Given the description of an element on the screen output the (x, y) to click on. 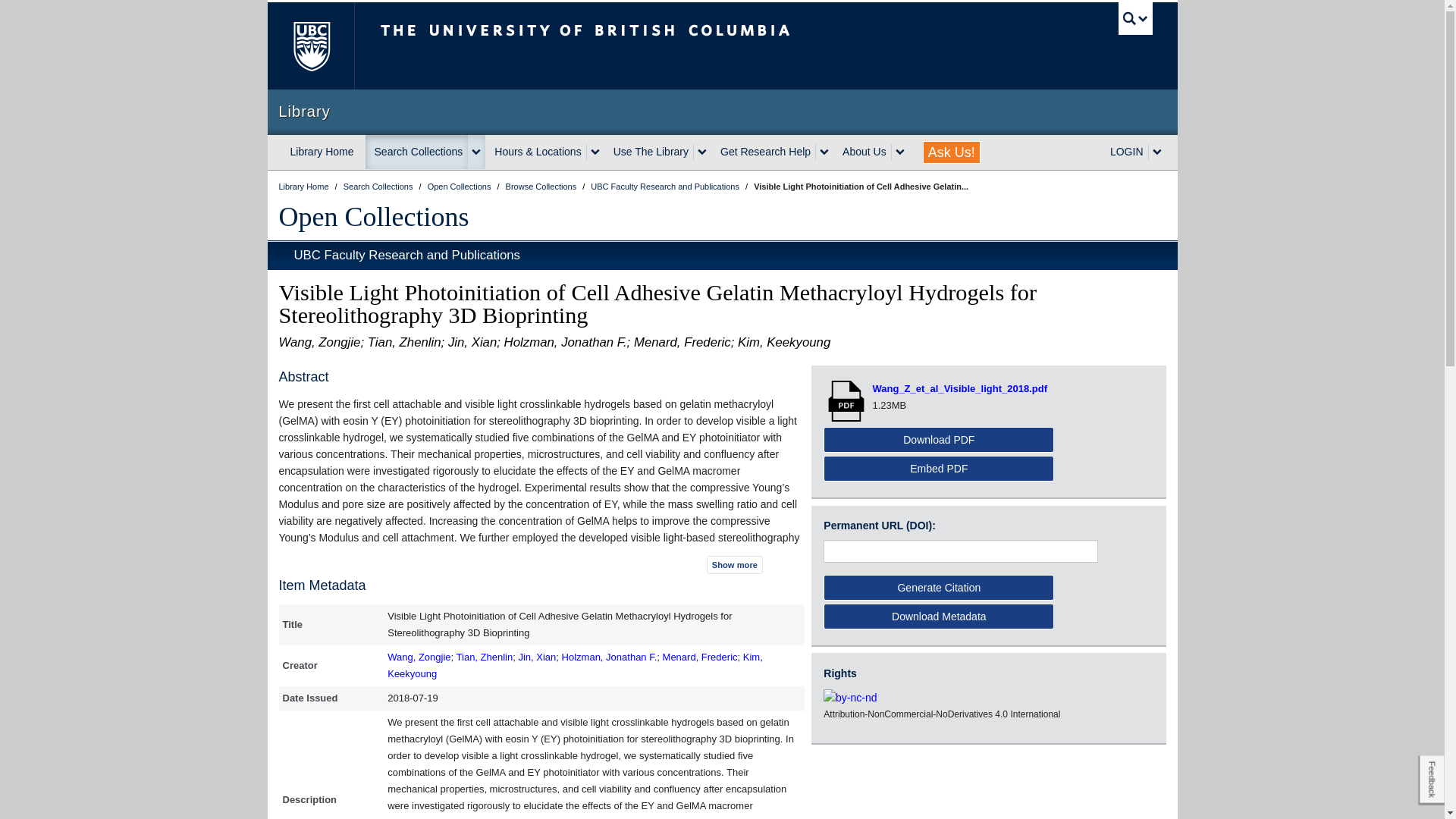
Library Home (322, 151)
Open Collections (373, 216)
UBC Library (305, 185)
Library (722, 111)
Search Collections (416, 151)
The University of British Columbia (635, 45)
UBC Search (1135, 18)
Search Collections (378, 185)
Browse Collections (542, 185)
The University of British Columbia (309, 45)
Open Collections (460, 185)
open file (848, 401)
